Given the description of an element on the screen output the (x, y) to click on. 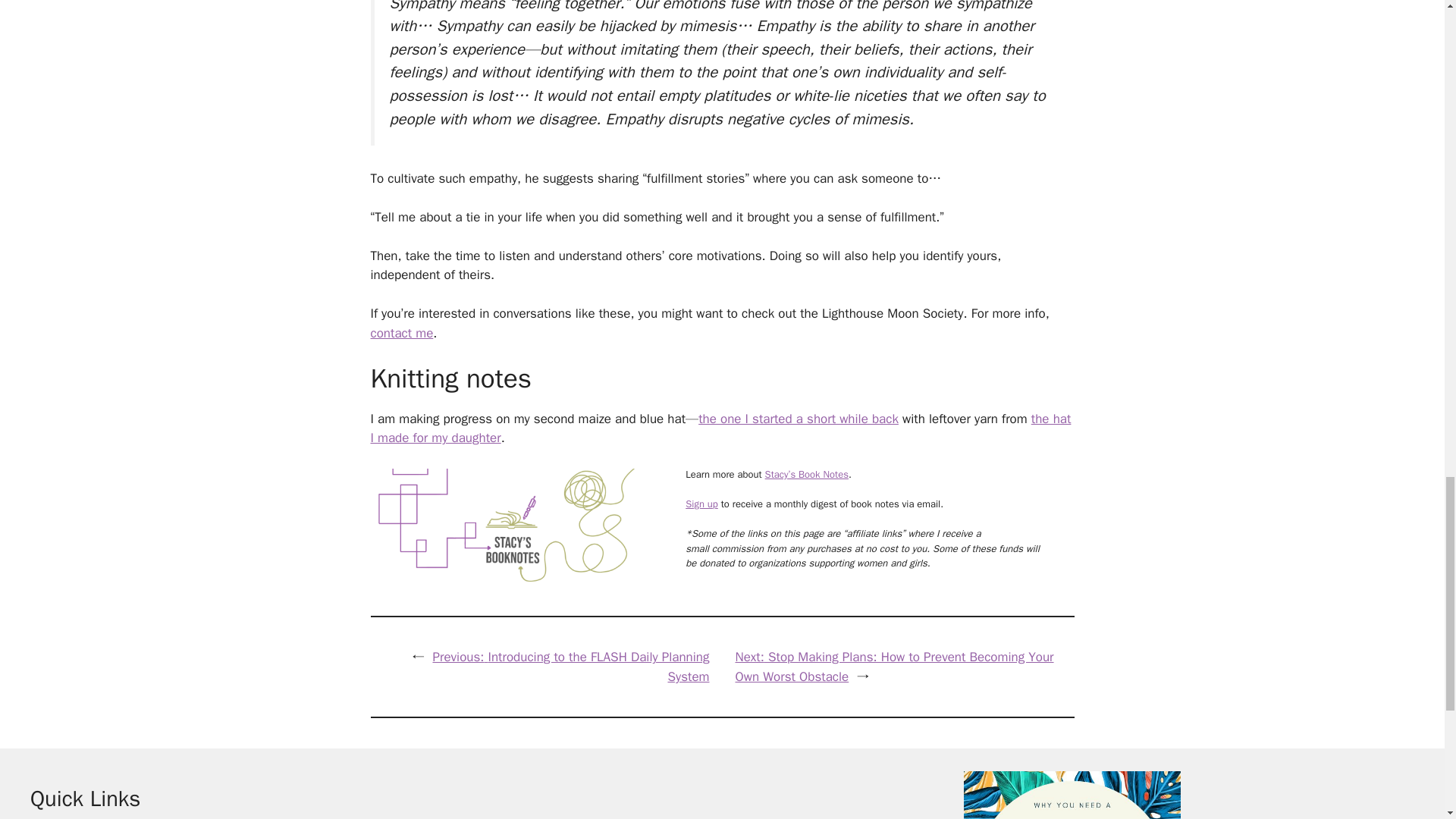
the hat I made for my daughter (719, 428)
Previous: Introducing to the FLASH Daily Planning System (570, 666)
Sign up (701, 503)
contact me (400, 333)
the one I started a short while back (798, 418)
